Given the description of an element on the screen output the (x, y) to click on. 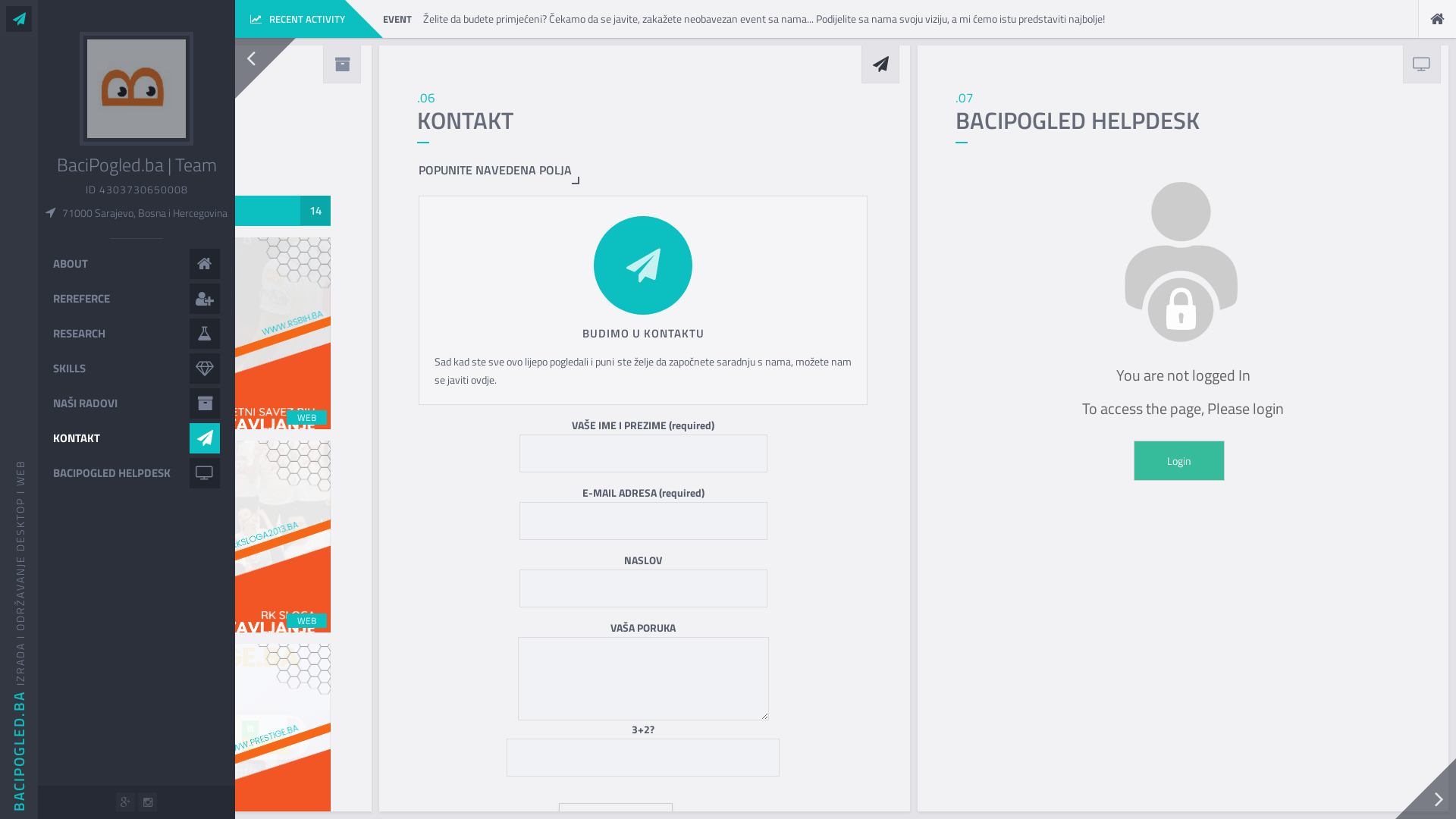
BACIPOGLED HELPDESK Element type: text (136, 472)
RESEARCH Element type: text (136, 333)
SKILLS Element type: text (136, 368)
REREFERCE Element type: text (136, 298)
ABOUT Element type: text (136, 263)
Login Element type: text (1178, 460)
KONTAKT Element type: text (136, 437)
